Given the description of an element on the screen output the (x, y) to click on. 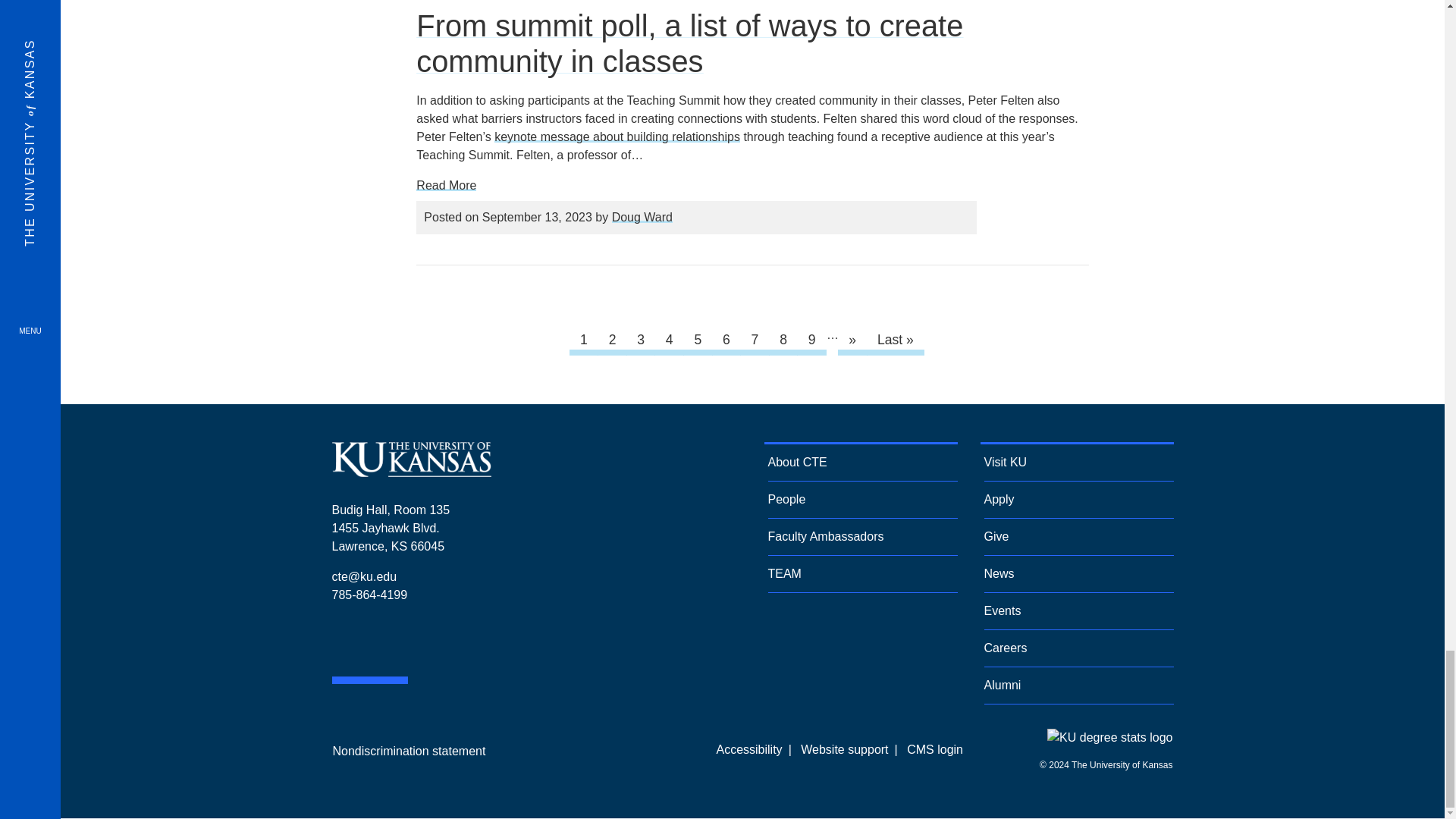
Go to page 8 (782, 340)
Go to page 6 (726, 340)
Go to page 4 (668, 340)
Go to page 7 (754, 340)
Go to page 2 (611, 340)
Go to page 3 (641, 340)
Go to page 9 (811, 340)
The University of Kansas (411, 471)
Go to last page (895, 340)
Go to next page (852, 340)
Go to page 5 (697, 340)
Current page (583, 340)
